Given the description of an element on the screen output the (x, y) to click on. 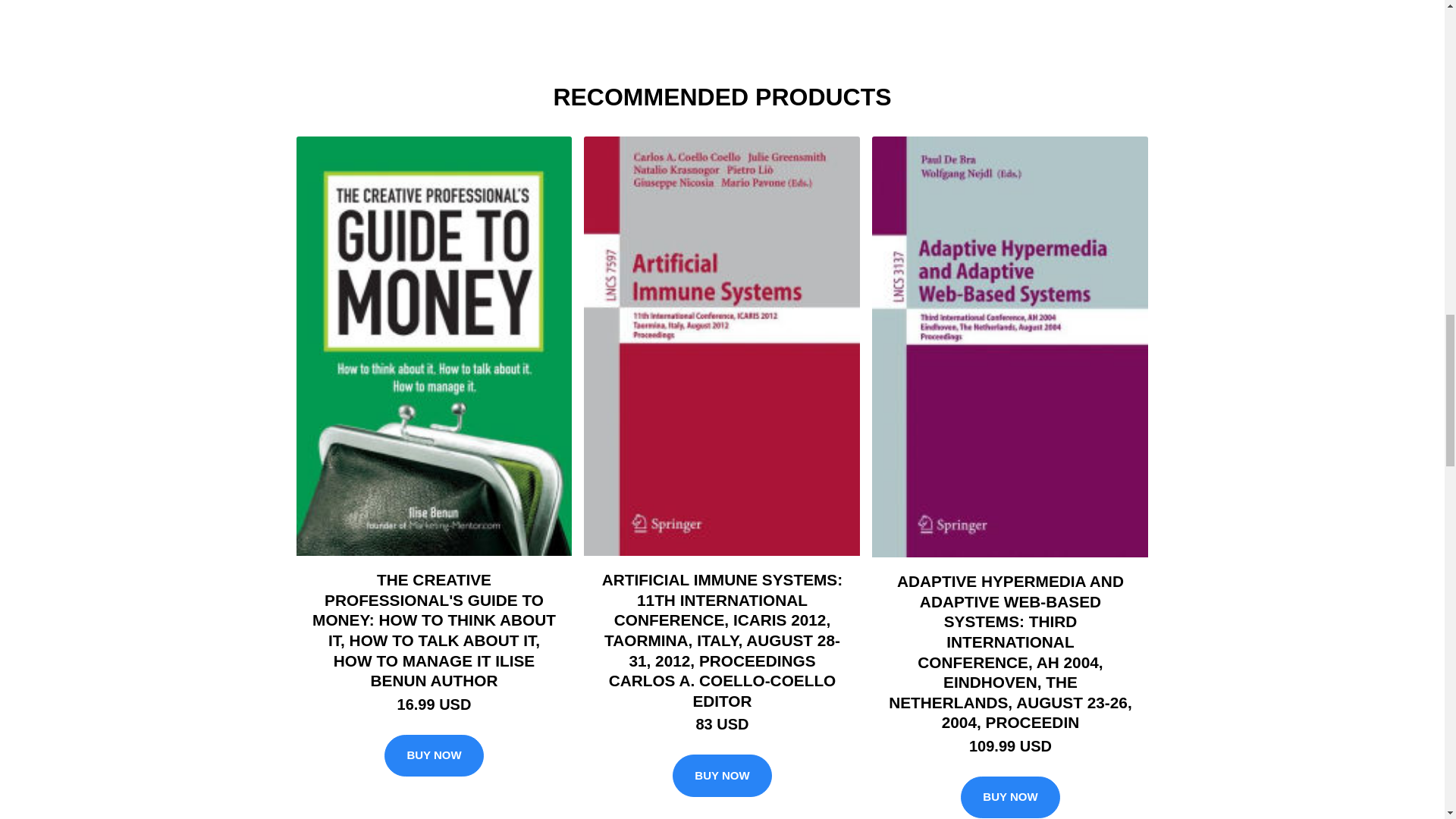
BUY NOW (721, 775)
BUY NOW (1009, 797)
BUY NOW (433, 755)
